Given the description of an element on the screen output the (x, y) to click on. 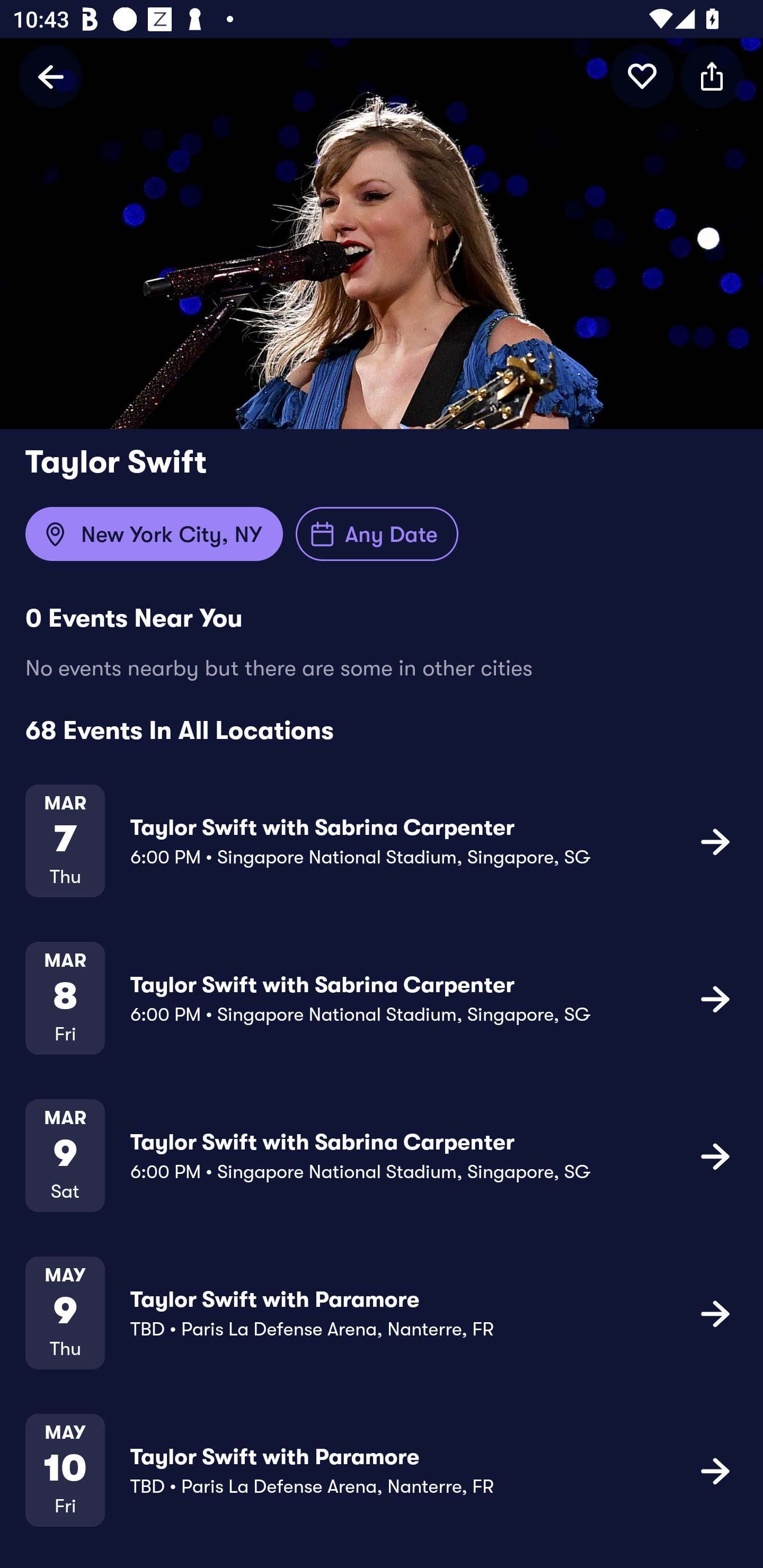
Back (50, 75)
icon button (641, 75)
icon button (711, 75)
New York City, NY (153, 533)
Any Date (377, 533)
icon button (714, 840)
icon button (714, 998)
icon button (714, 1155)
icon button (714, 1312)
icon button (714, 1470)
